Given the description of an element on the screen output the (x, y) to click on. 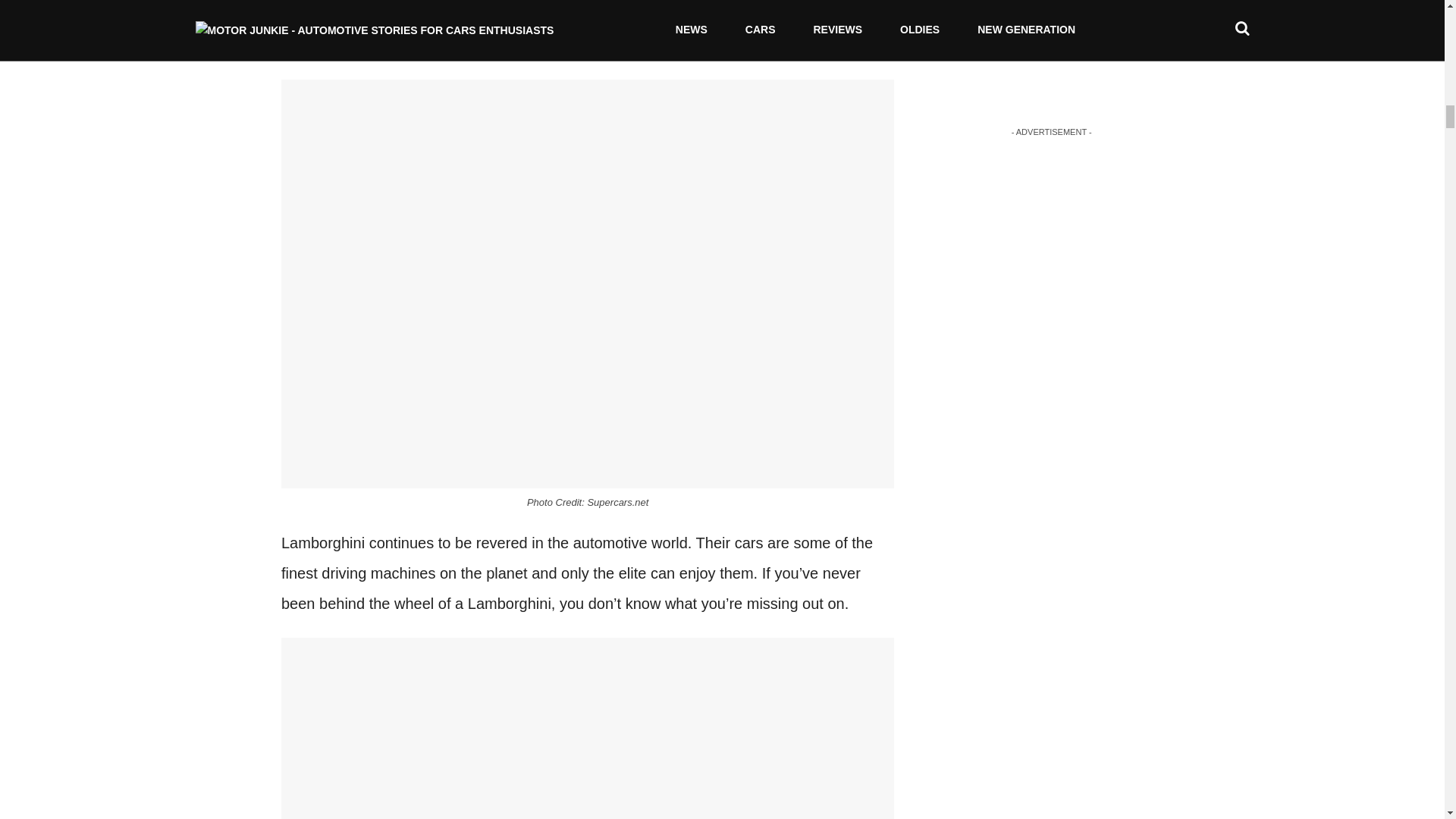
Motor Trend (721, 45)
